Given the description of an element on the screen output the (x, y) to click on. 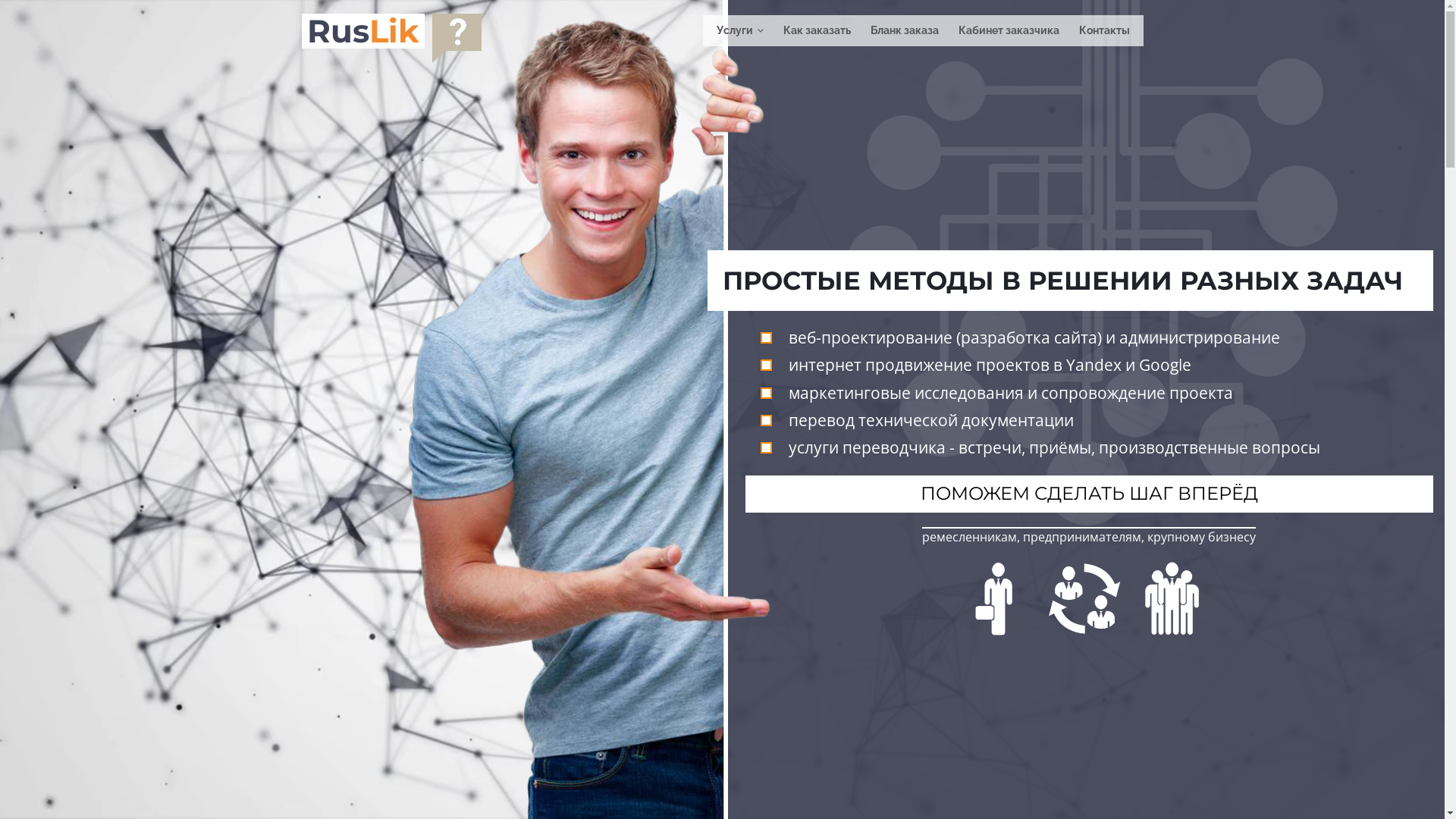
0 Element type: text (456, 37)
RusLik Element type: text (362, 31)
